Given the description of an element on the screen output the (x, y) to click on. 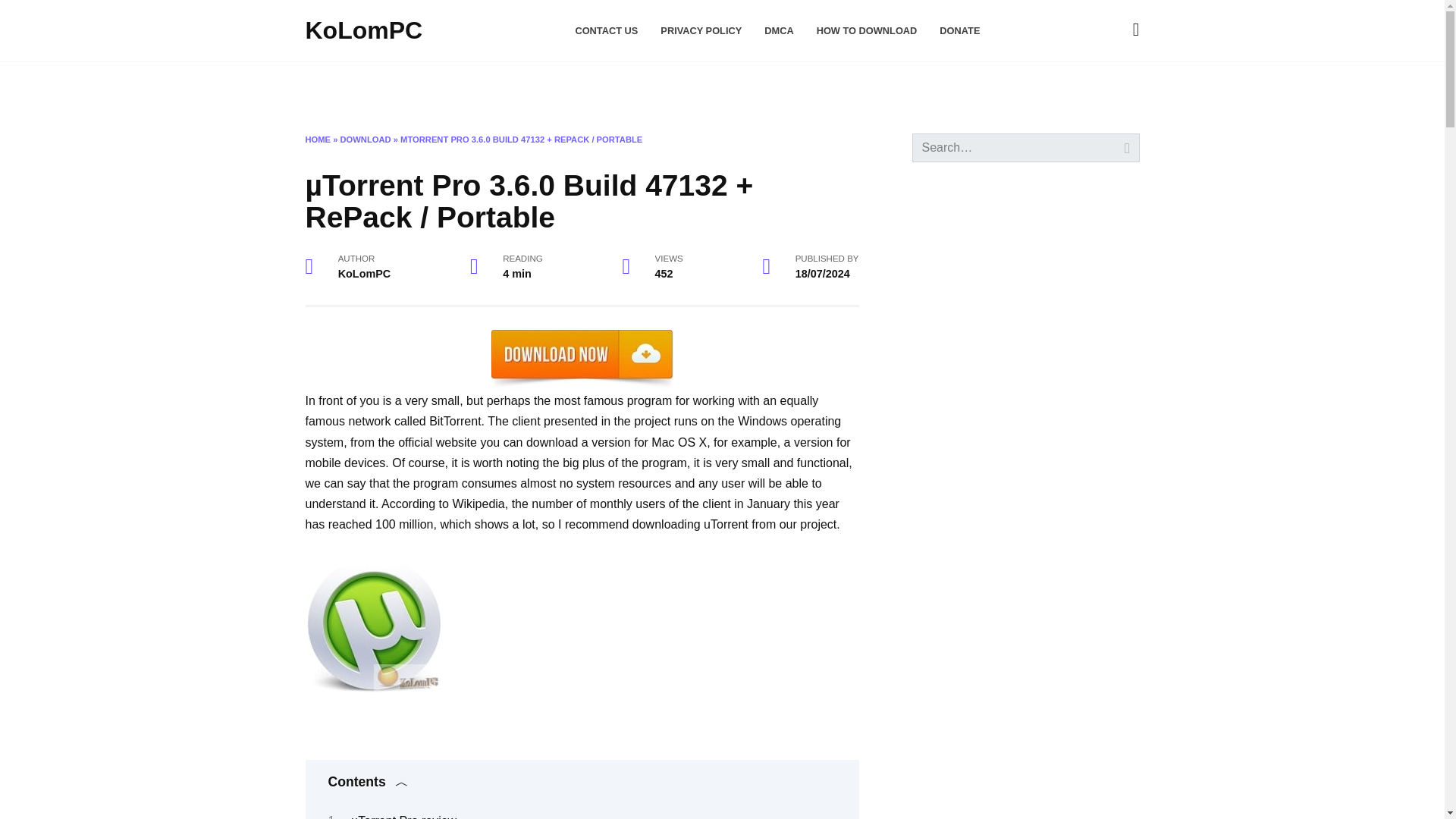
DMCA (778, 30)
DONATE (959, 30)
DOWNLOAD (365, 139)
Android (560, 86)
CONTACT US (606, 30)
PC Games (749, 86)
PRIVACY POLICY (701, 30)
Portable Apps (655, 86)
Home (325, 86)
HOME (317, 139)
Programs (467, 86)
macOS (386, 86)
HOW TO DOWNLOAD (866, 30)
KoLomPC (363, 30)
